Given the description of an element on the screen output the (x, y) to click on. 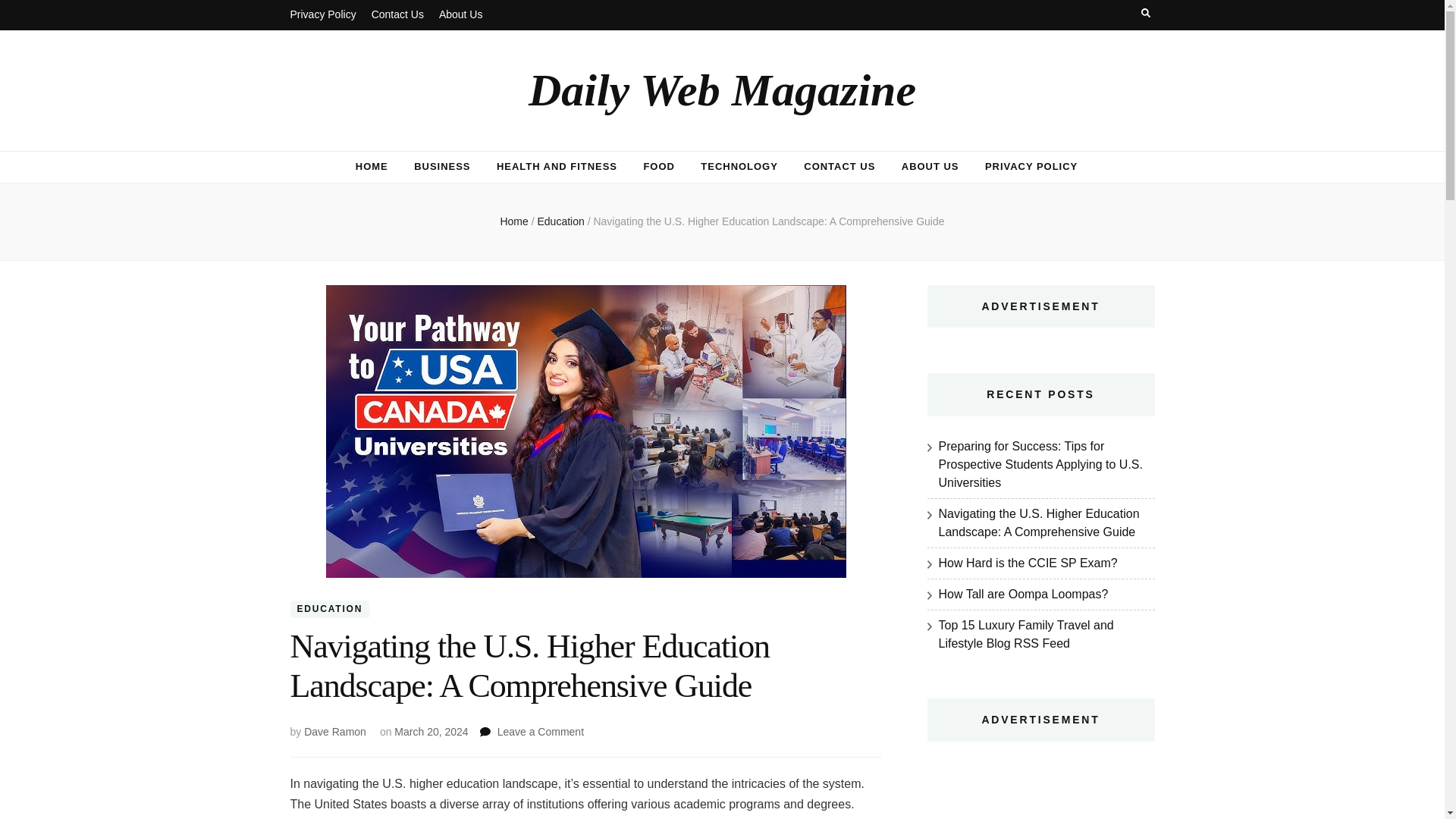
Privacy Policy (322, 15)
HEALTH AND FITNESS (556, 167)
TECHNOLOGY (738, 167)
ABOUT US (930, 167)
About Us (461, 15)
Contact Us (397, 15)
March 20, 2024 (430, 731)
Daily Web Magazine (721, 90)
EDUCATION (329, 608)
HOME (371, 167)
Home (513, 221)
BUSINESS (441, 167)
Education (561, 221)
